Given the description of an element on the screen output the (x, y) to click on. 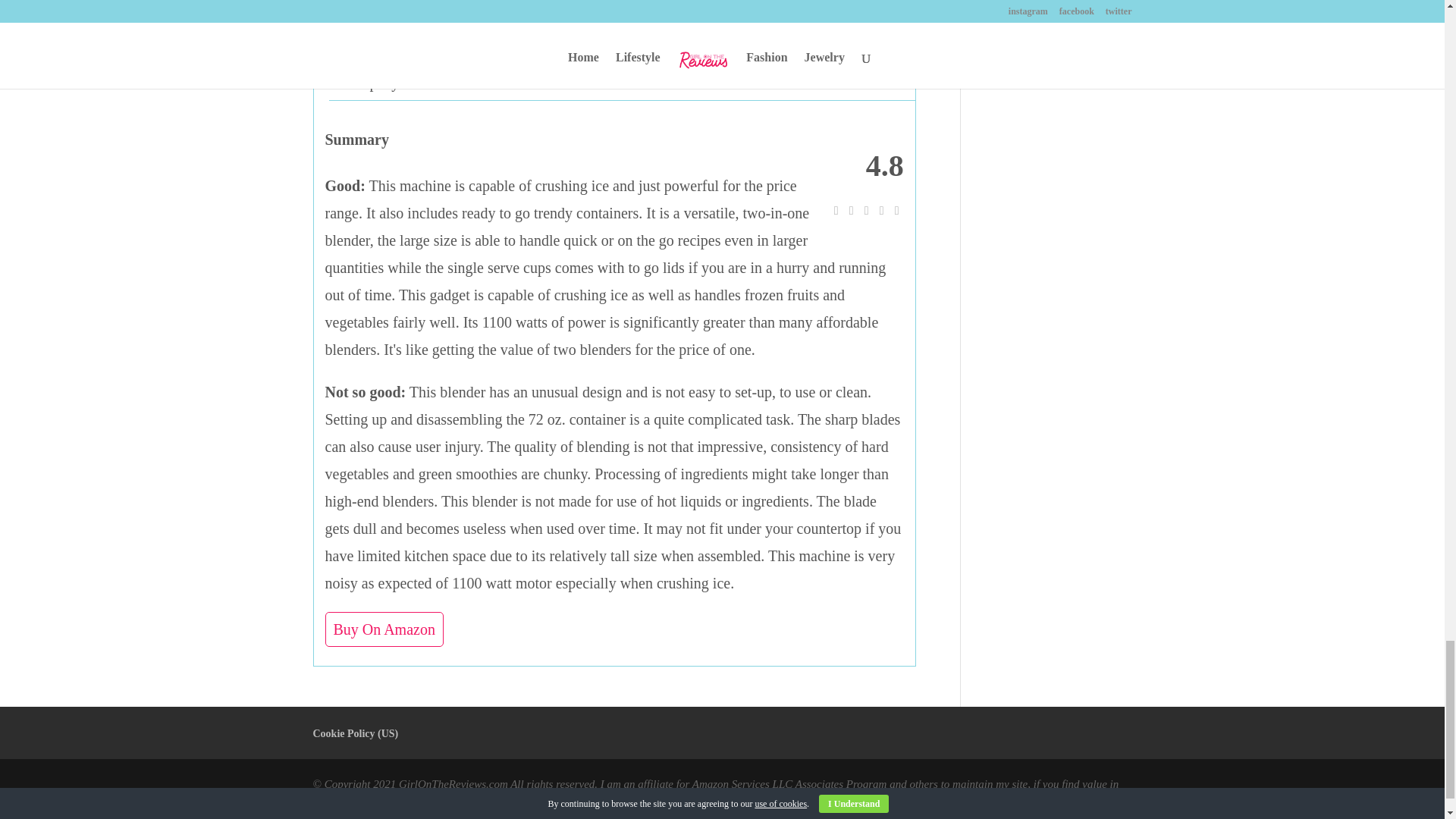
Buy On Amazon (383, 629)
GirlOnTheReviews.com (453, 784)
